Given the description of an element on the screen output the (x, y) to click on. 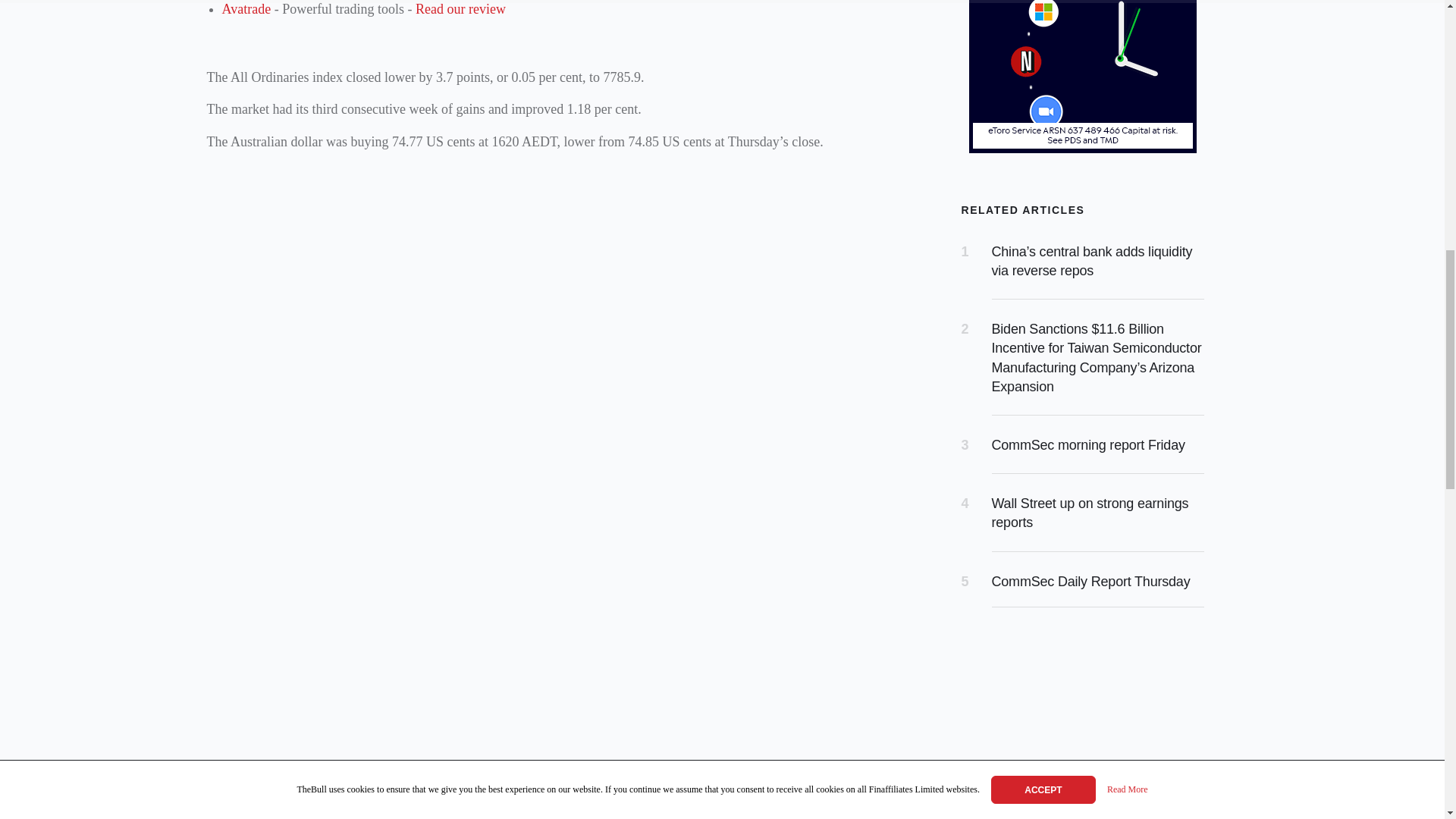
Wall Street up on strong earnings reports (1090, 512)
CommSec Daily Report Thursday (1091, 581)
CommSec morning report Friday (1088, 444)
Wall Street up on strong earnings reports (1090, 512)
Avatrade (245, 8)
CommSec Daily Report Thursday (1091, 581)
CommSec morning report Friday (1088, 444)
Read our review (459, 8)
